Given the description of an element on the screen output the (x, y) to click on. 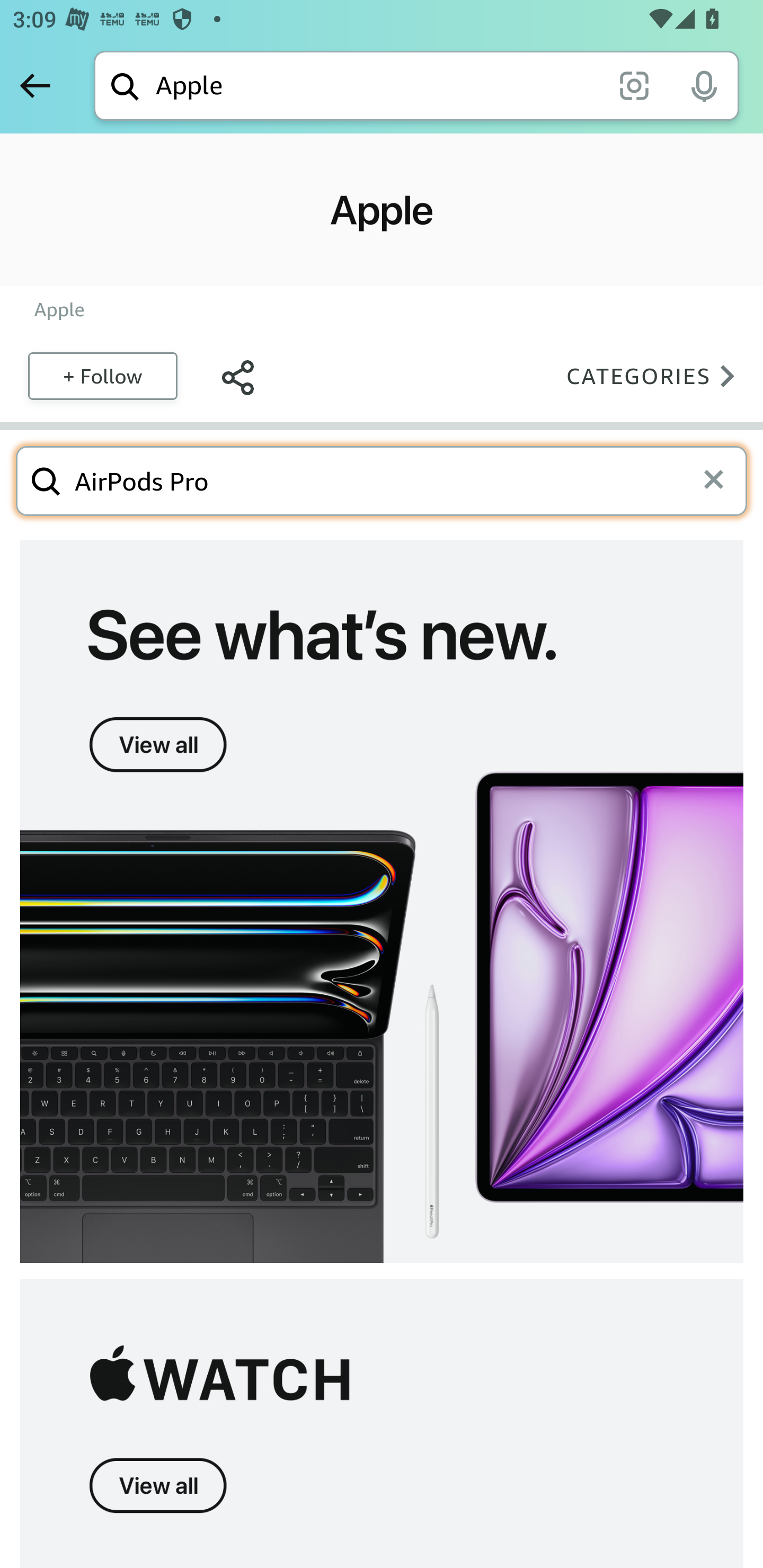
Back (35, 85)
scan it (633, 85)
Apple (59, 309)
Share (237, 375)
Follow Apple (101, 375)
CATEGORIES (656, 375)
AirPods Pro (384, 480)
Search (45, 480)
Clear (719, 480)
learn more (381, 901)
learn more (381, 1422)
